Given the description of an element on the screen output the (x, y) to click on. 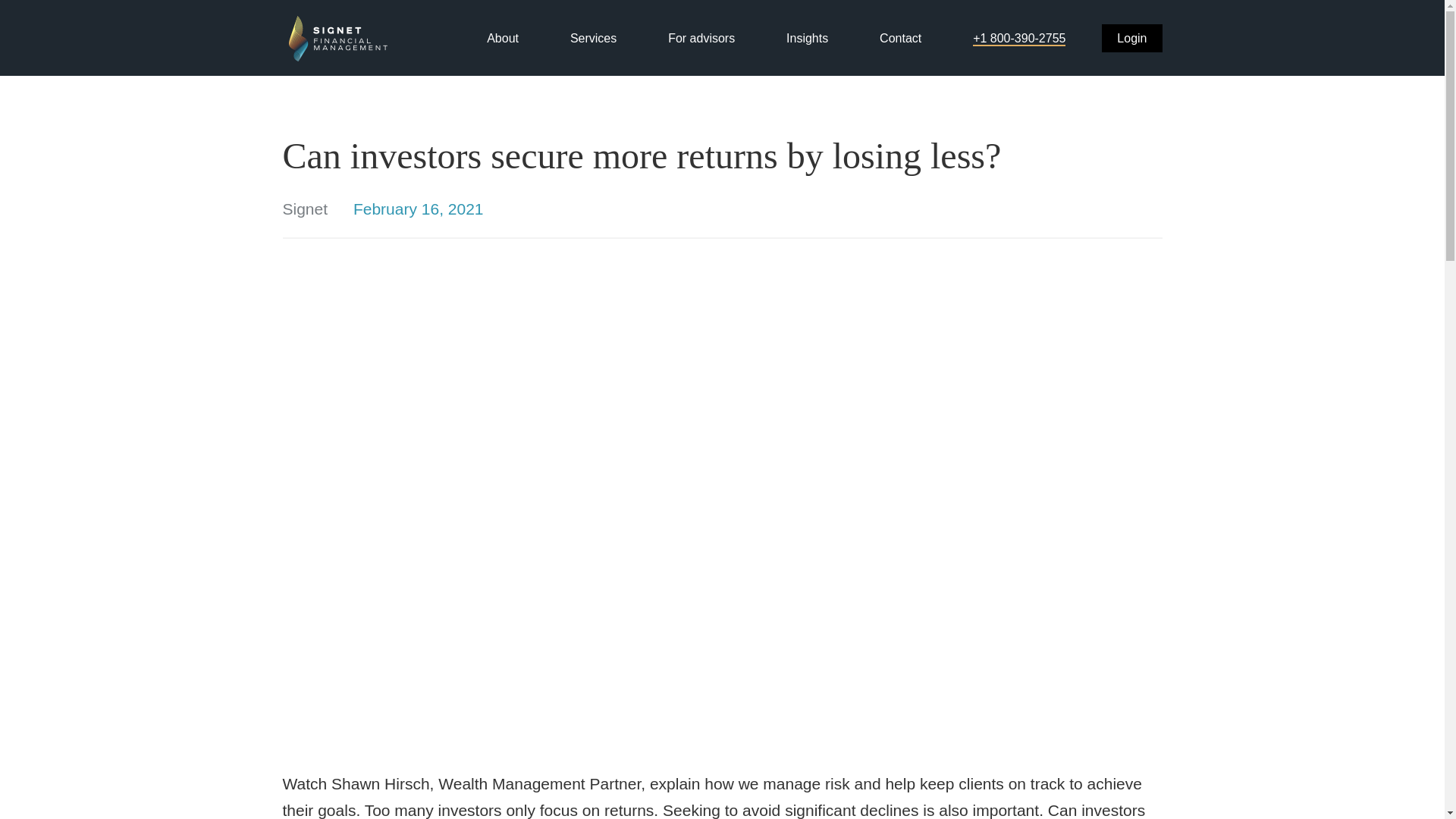
Contact (900, 38)
For advisors (700, 38)
Can investors secure more returns by losing less? (721, 155)
Insights (807, 38)
Login (1131, 38)
